Given the description of an element on the screen output the (x, y) to click on. 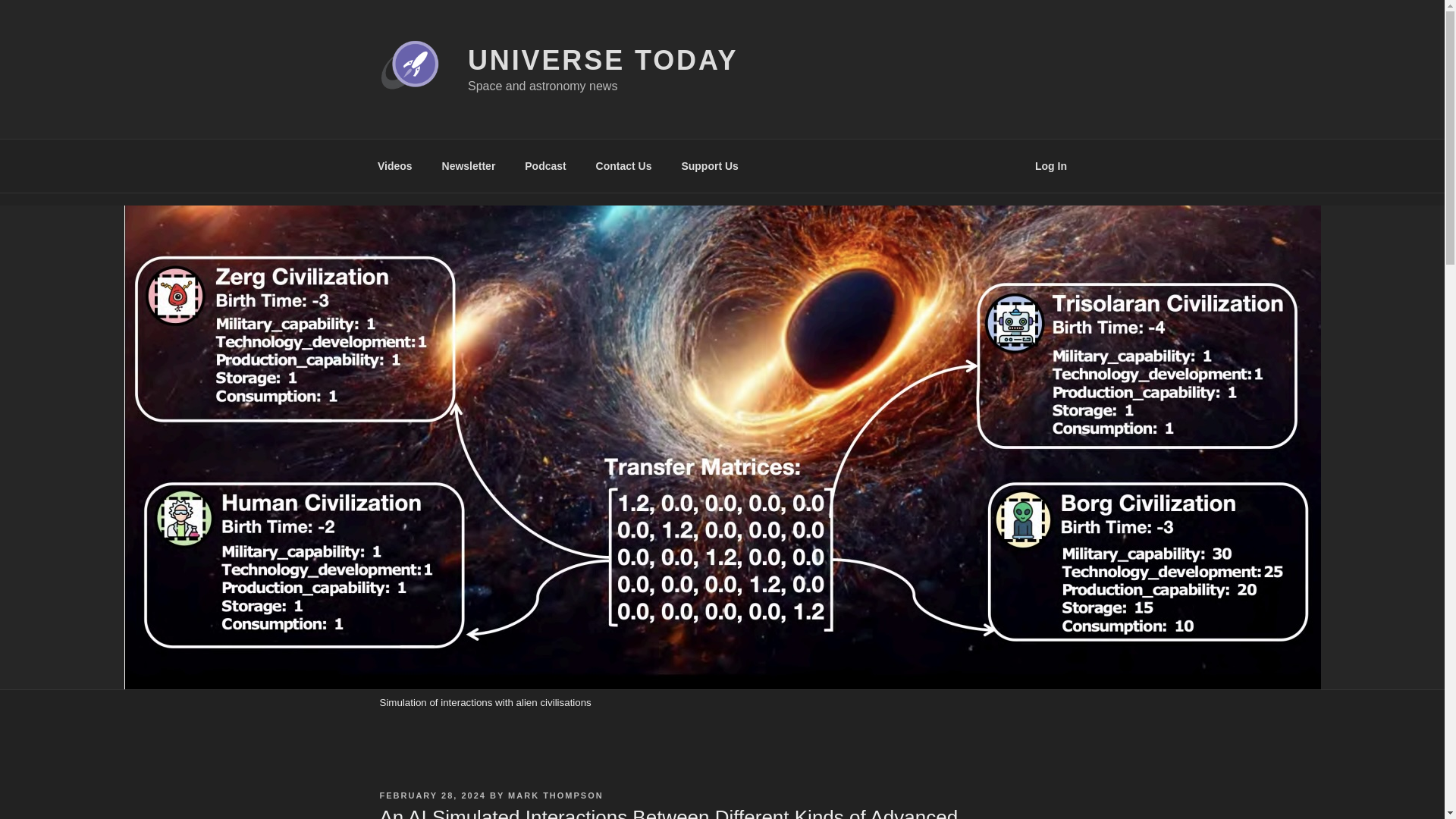
Contact Us (623, 165)
Podcast (545, 165)
Log In (1051, 165)
Support Us (709, 165)
MARK THOMPSON (556, 795)
FEBRUARY 28, 2024 (431, 795)
Newsletter (468, 165)
UNIVERSE TODAY (602, 60)
Videos (394, 165)
